Given the description of an element on the screen output the (x, y) to click on. 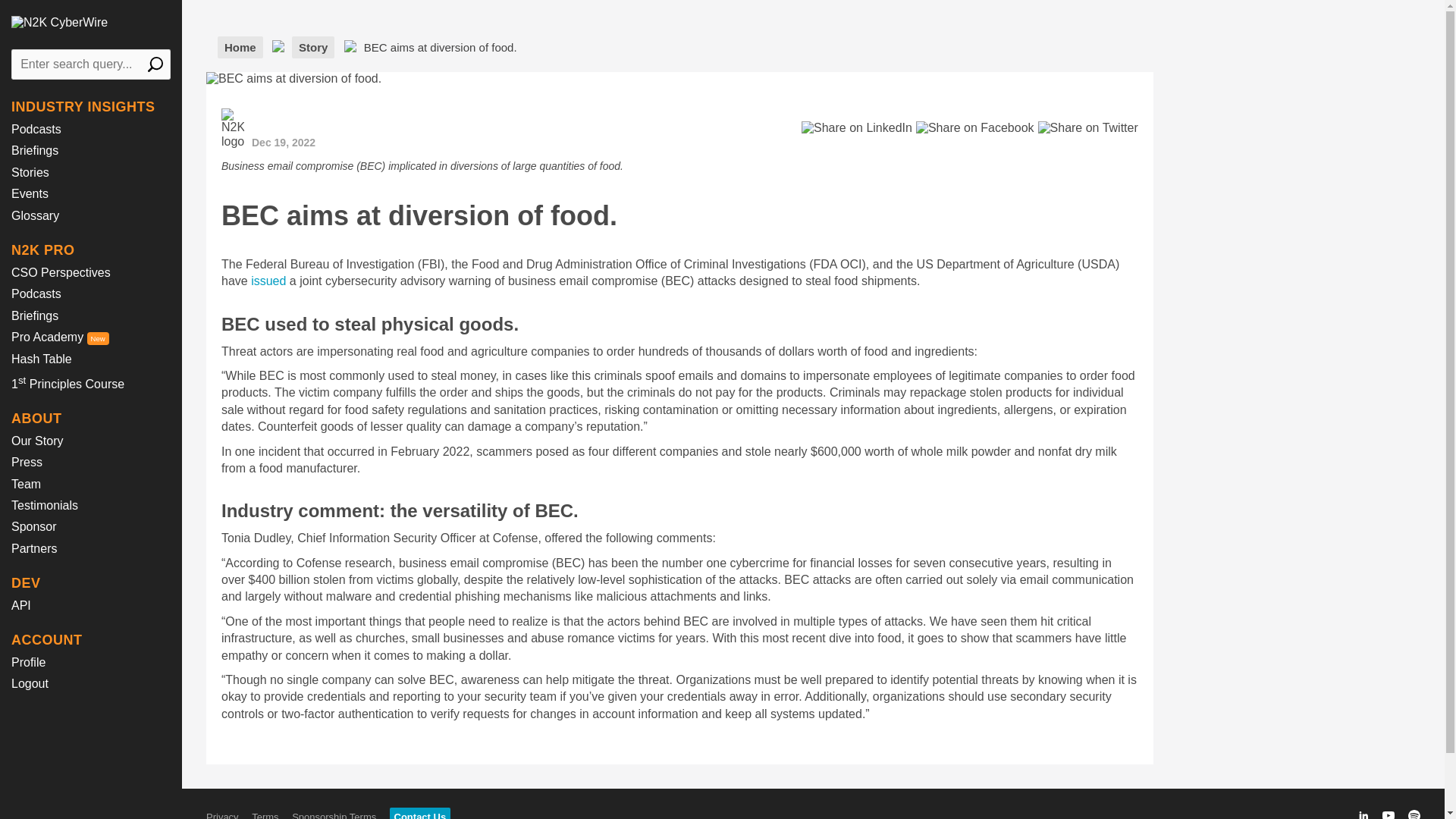
Events (29, 193)
API (20, 604)
Podcasts (36, 128)
Stories (30, 172)
Team (25, 483)
Sponsor (33, 526)
Briefings (34, 315)
CSO Perspectives (60, 272)
Partners (33, 548)
Press (26, 461)
